Given the description of an element on the screen output the (x, y) to click on. 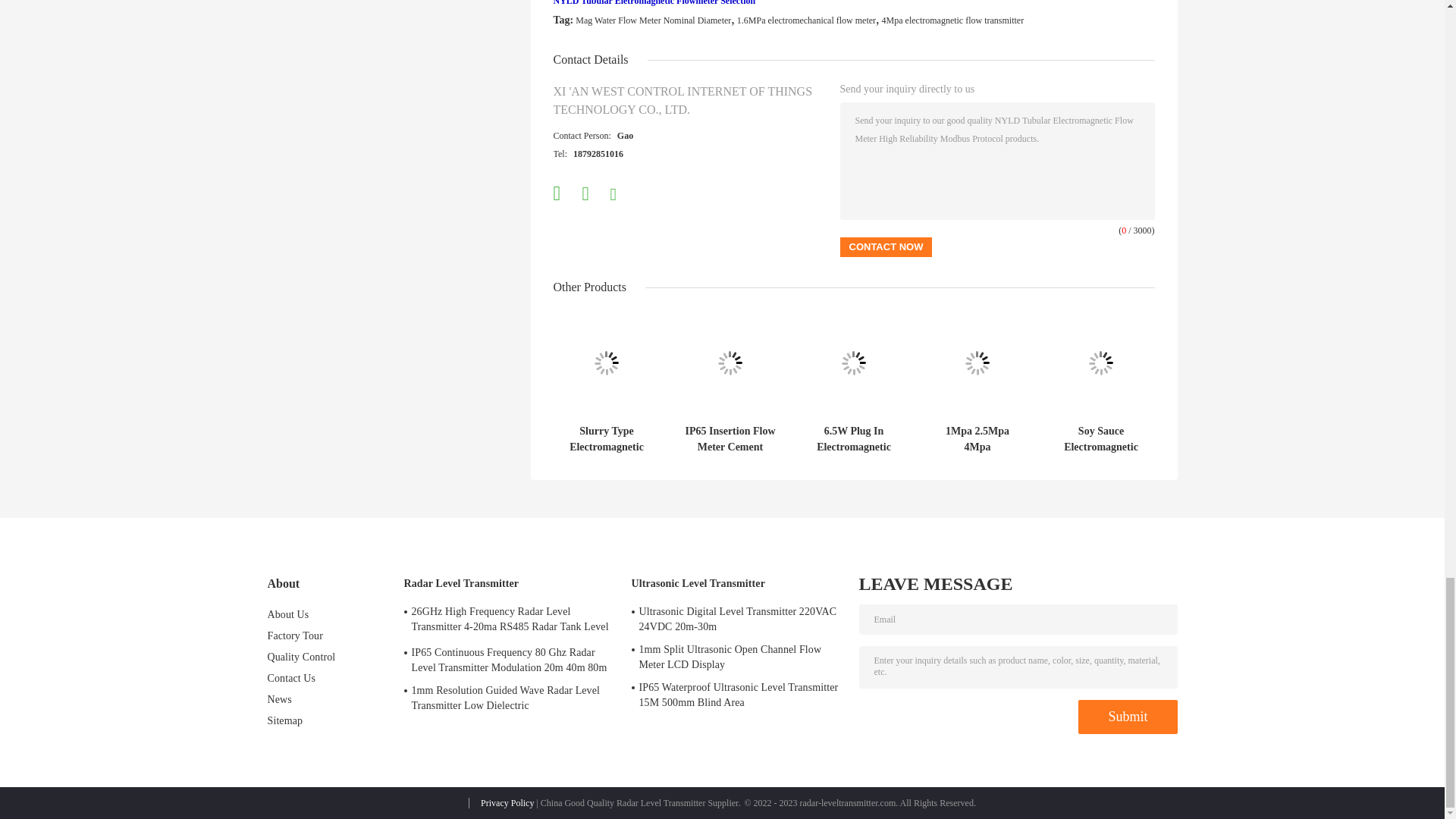
Submit (1127, 716)
Contact Now (886, 247)
